Given the description of an element on the screen output the (x, y) to click on. 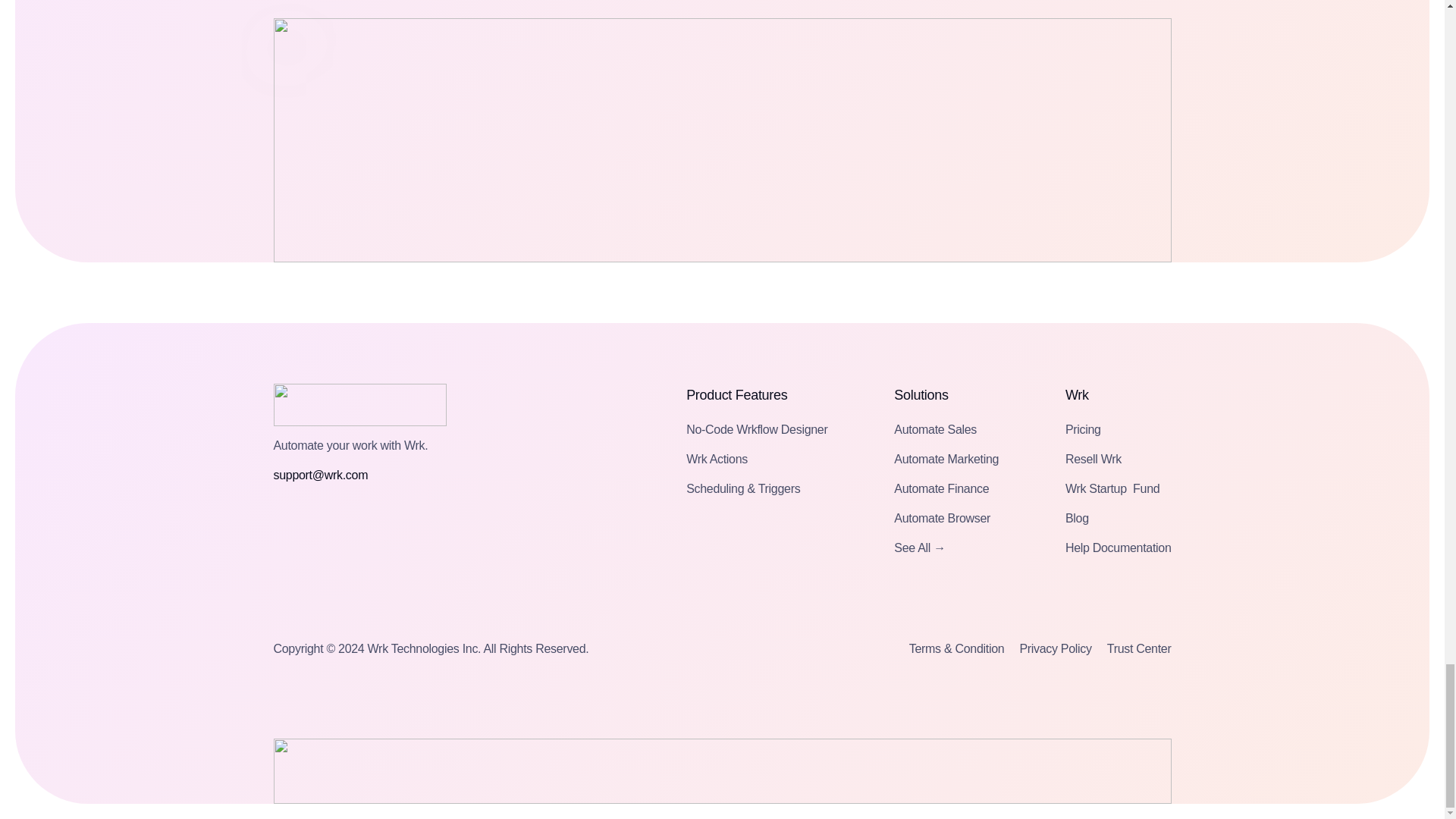
Blog (1077, 517)
Wrk Startup  Fund (1111, 488)
Privacy Policy (1054, 647)
Automate Browser (941, 517)
Pricing (1082, 429)
Resell Wrk (1093, 458)
Help Documentation (1118, 547)
Automate Sales (934, 429)
Wrk Actions (716, 458)
No-Code Wrkflow Designer (756, 429)
Automate Finance (940, 488)
Trust Center (1139, 647)
Automate Marketing (945, 458)
